Given the description of an element on the screen output the (x, y) to click on. 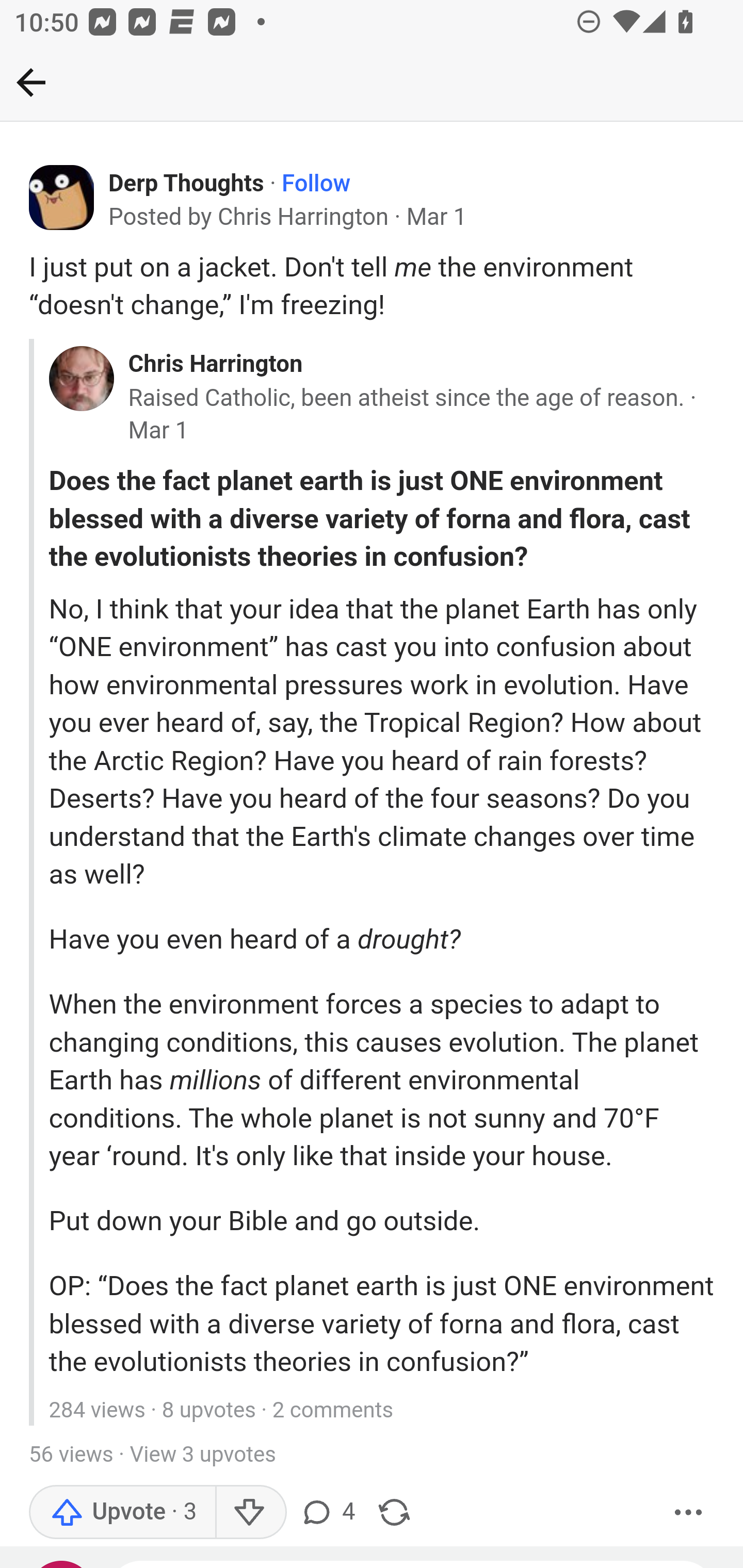
Back (30, 82)
Icon for Derp Thoughts (61, 198)
Derp Thoughts (186, 183)
Follow (316, 183)
Profile photo for Chris Harrington (80, 378)
Chris Harrington (214, 363)
Upvote (122, 1512)
Downvote (249, 1512)
4 comments (330, 1512)
Share (394, 1512)
More (688, 1512)
